Given the description of an element on the screen output the (x, y) to click on. 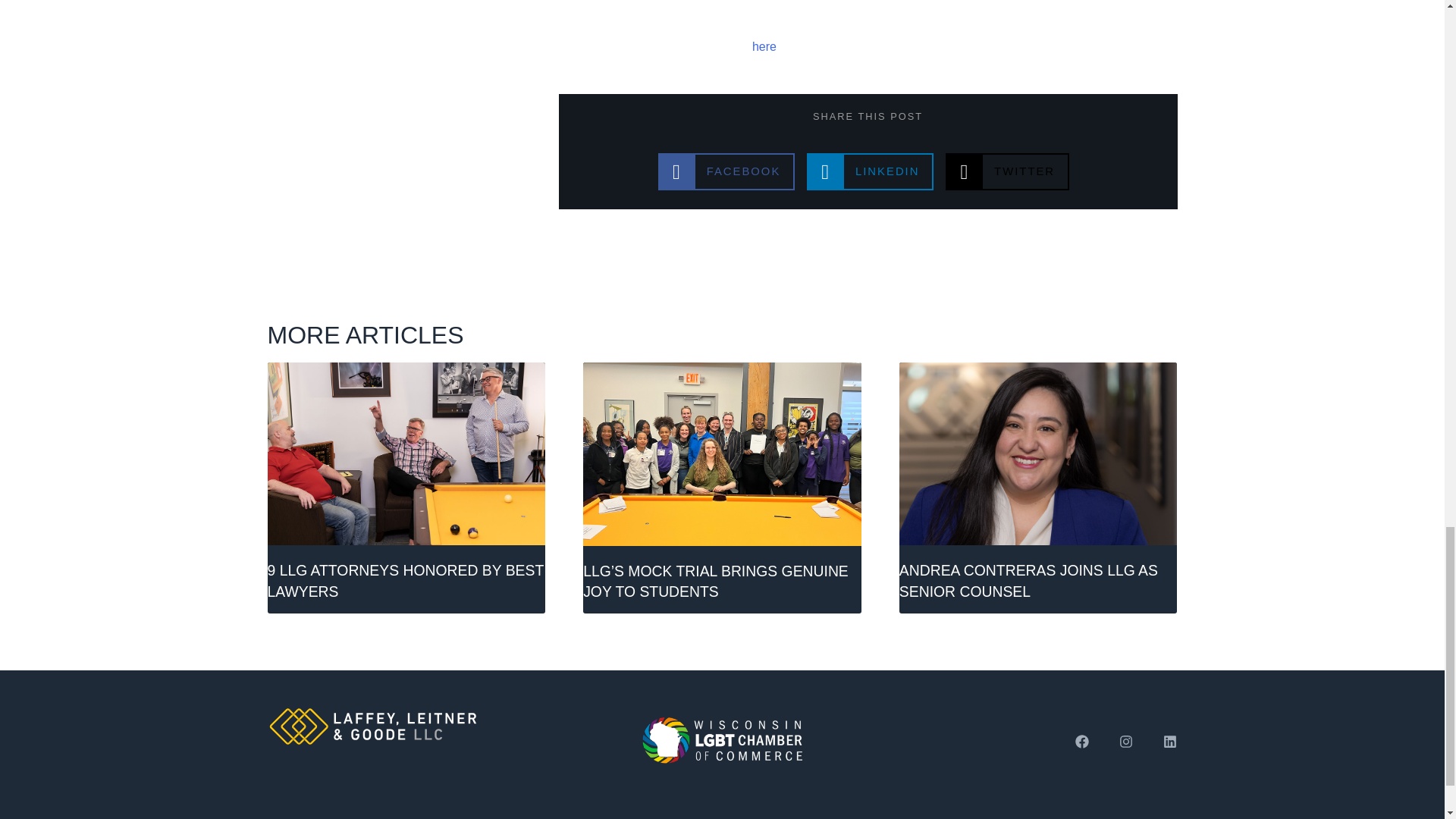
ANDREA CONTRERAS JOINS LLG AS SENIOR COUNSEL (869, 171)
9 LLG ATTORNEYS HONORED BY BEST LAWYERS (1028, 579)
here (726, 171)
